Given the description of an element on the screen output the (x, y) to click on. 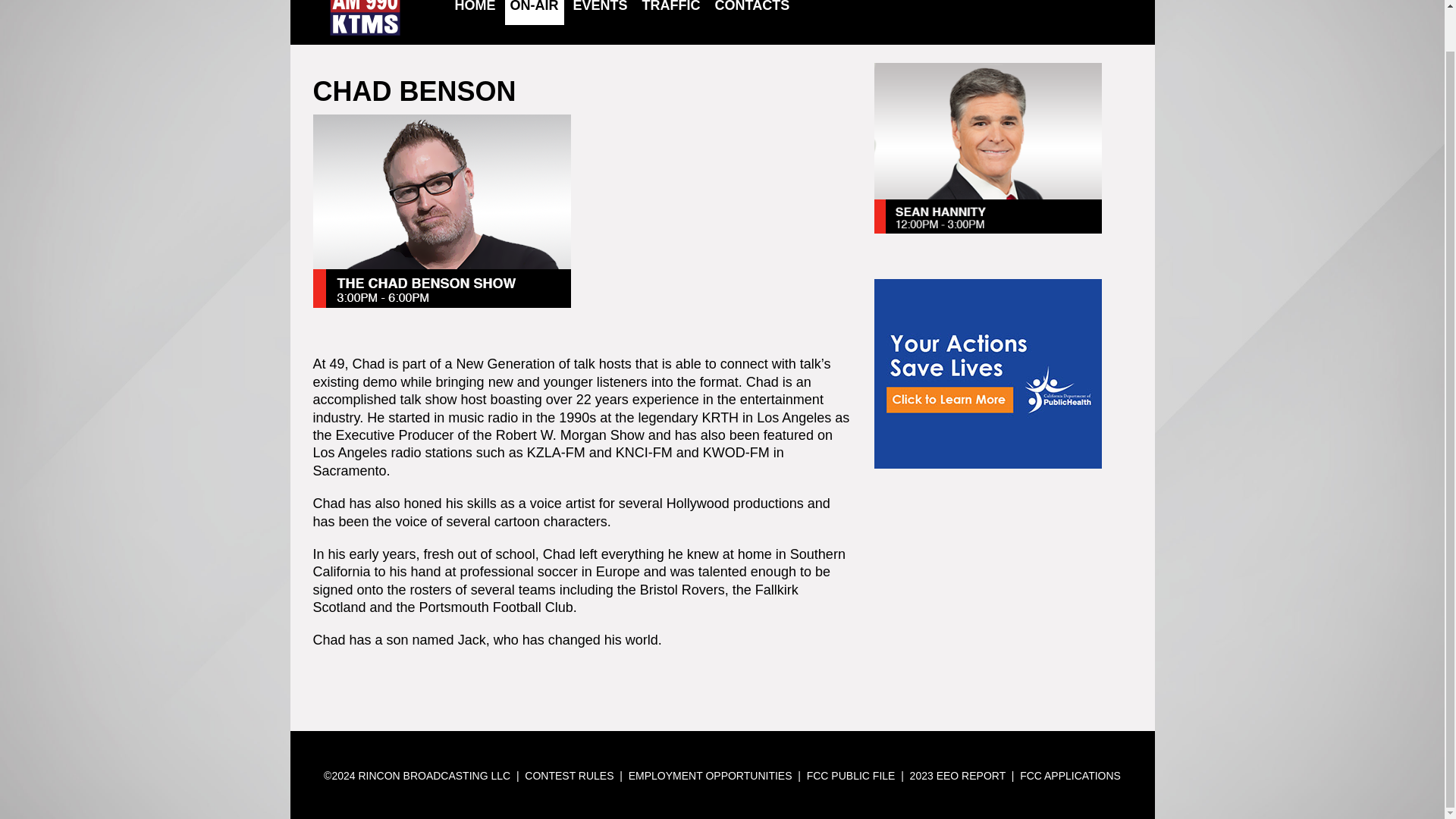
CONTEST RULES (568, 775)
CONTACTS (752, 6)
FCC PUBLIC FILE (850, 775)
HOME (475, 6)
EVENTS (600, 6)
EMPLOYMENT OPPORTUNITIES (710, 775)
ON-AIR (535, 6)
2023 EEO REPORT (958, 775)
FCC APPLICATIONS (1070, 775)
TRAFFIC (671, 6)
